Given the description of an element on the screen output the (x, y) to click on. 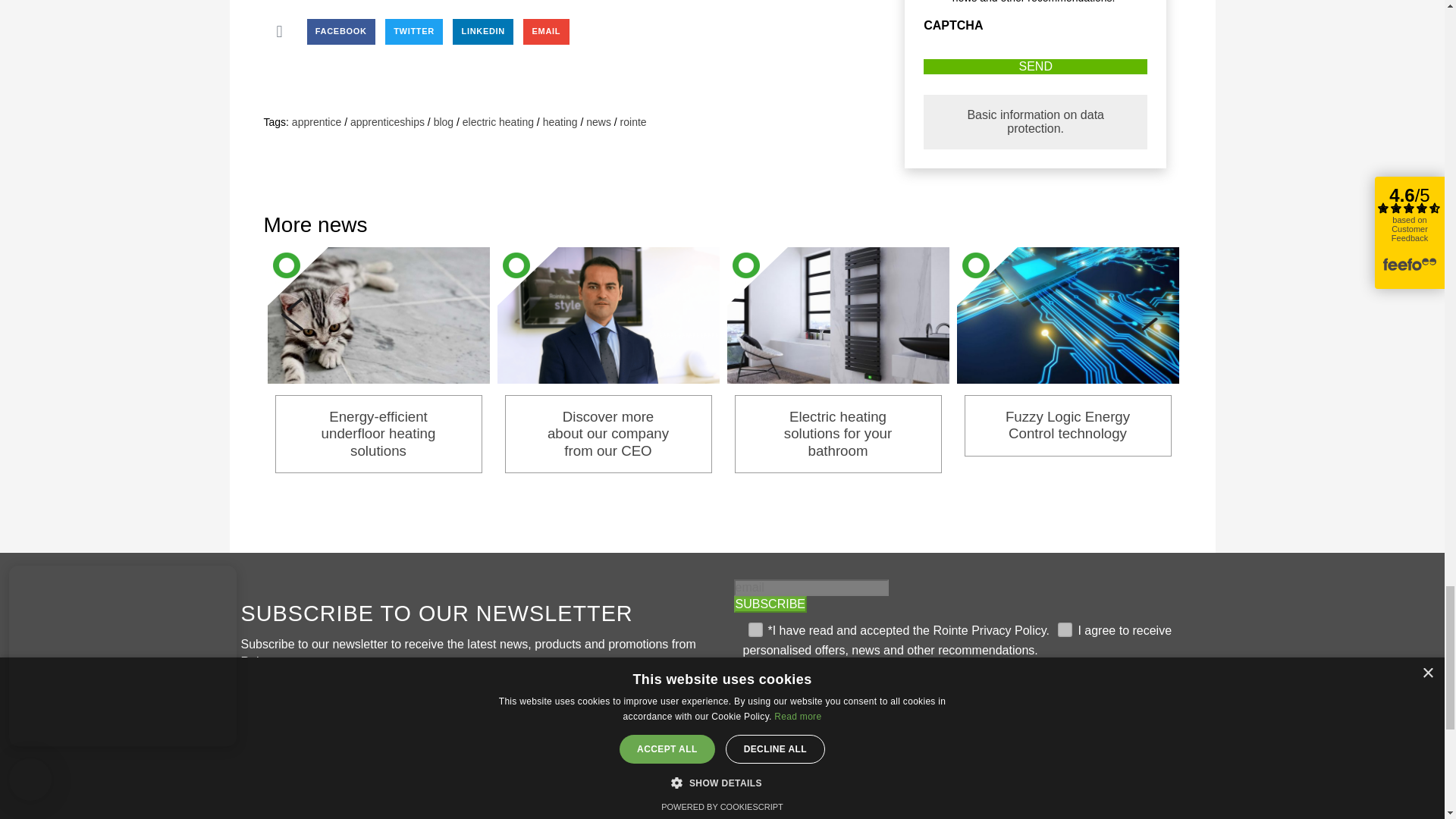
SUBSCRIBE (769, 604)
Y (752, 627)
Y (1062, 627)
